Given the description of an element on the screen output the (x, y) to click on. 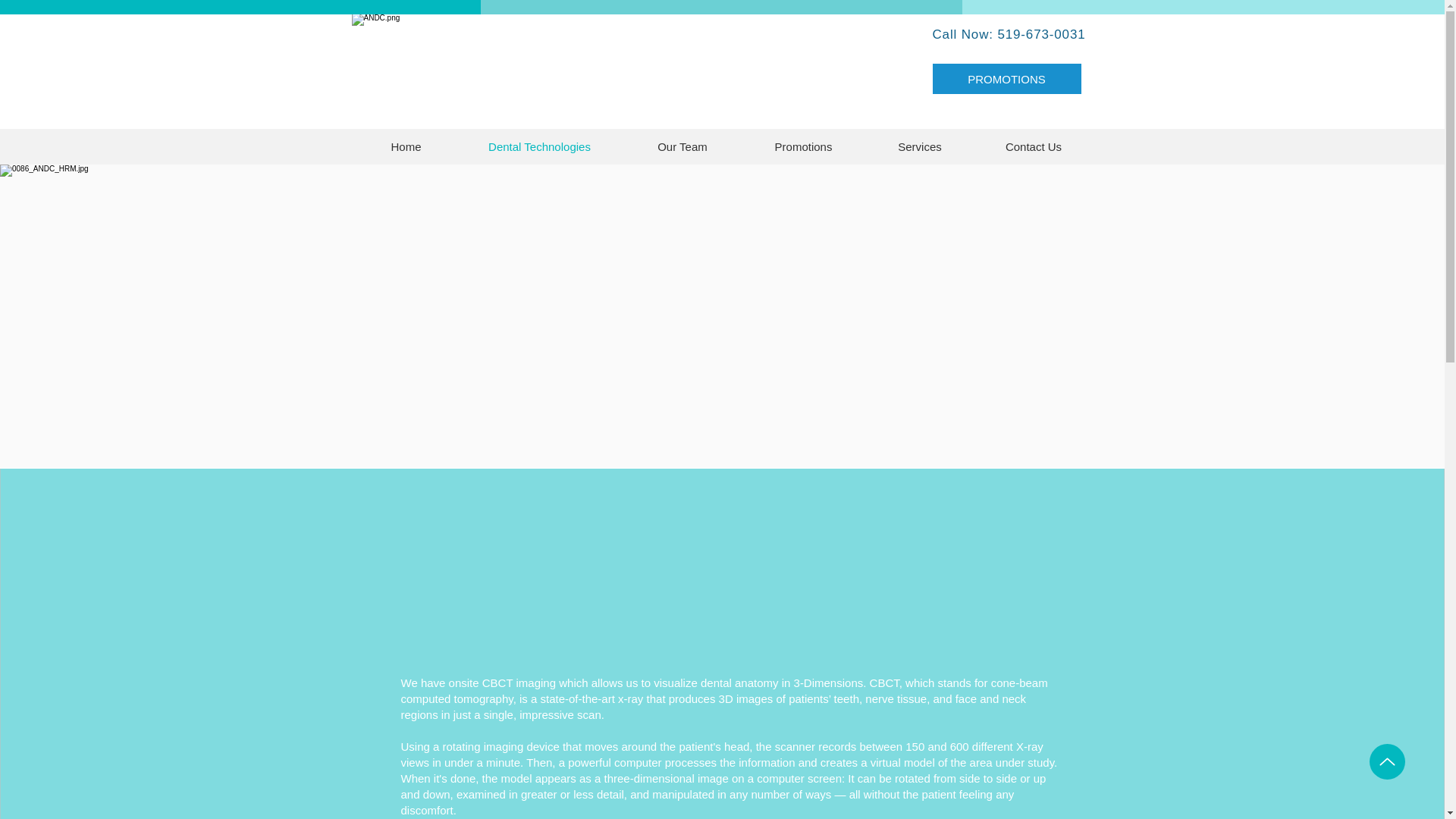
Home (406, 146)
Dental Technologies (539, 146)
Contact Us (1034, 146)
Services (919, 146)
Our Team (682, 146)
Promotions (802, 146)
Call Now: 519-673-0031 (1007, 34)
PROMOTIONS (1007, 78)
